Given the description of an element on the screen output the (x, y) to click on. 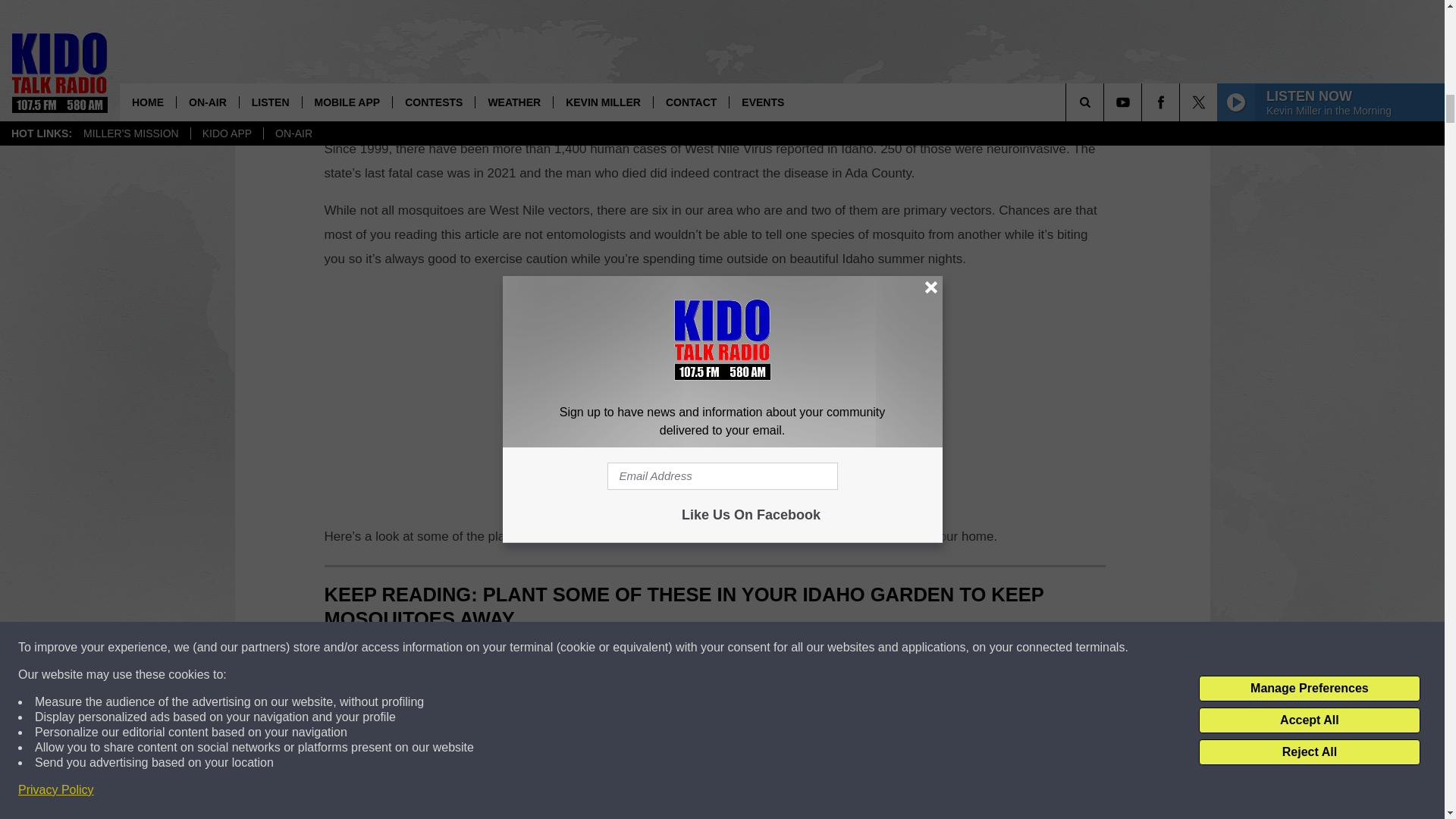
Email Address (714, 89)
